Given the description of an element on the screen output the (x, y) to click on. 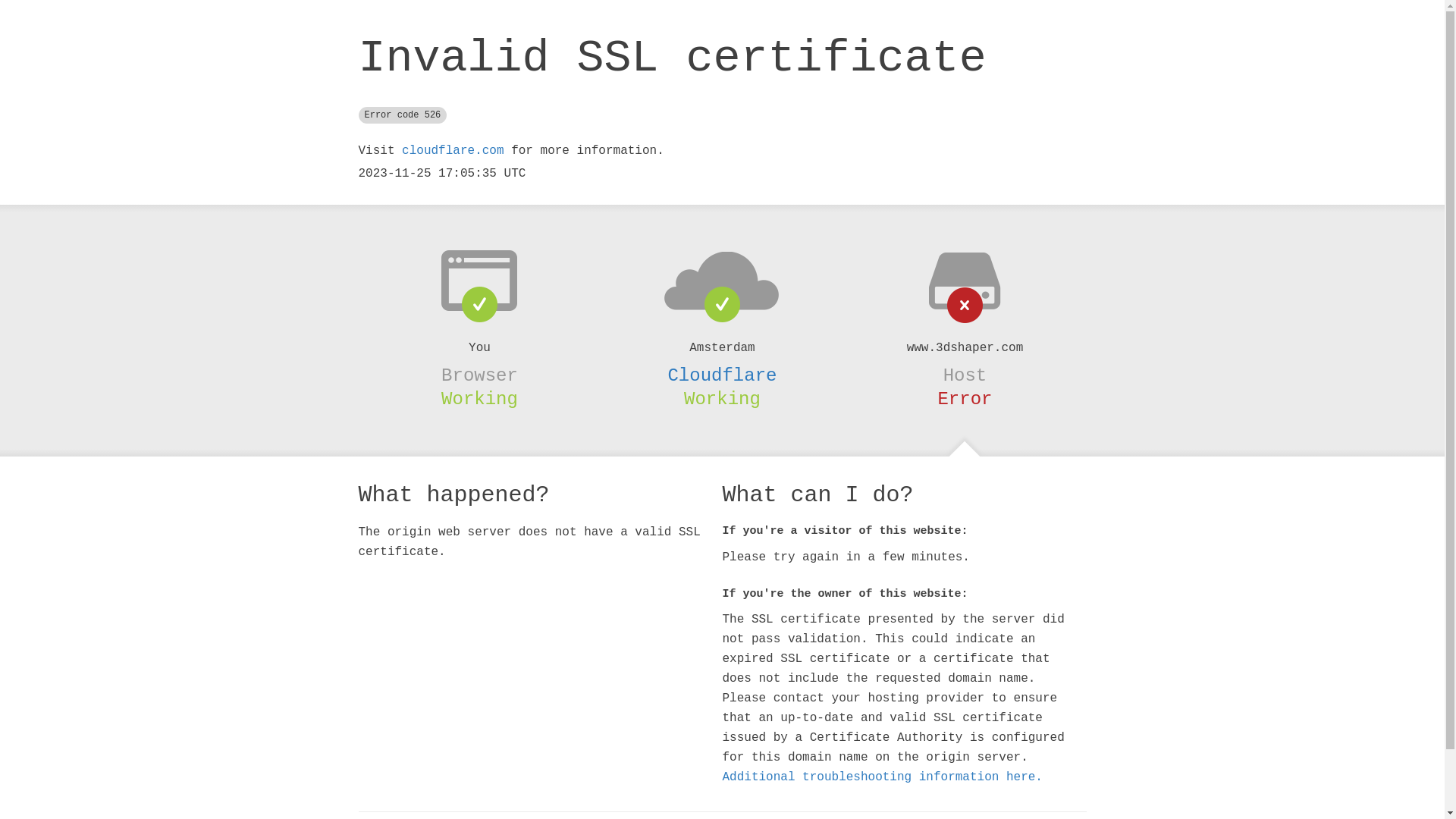
cloudflare.com Element type: text (452, 150)
Cloudflare Element type: text (721, 375)
Additional troubleshooting information here. Element type: text (881, 777)
